Given the description of an element on the screen output the (x, y) to click on. 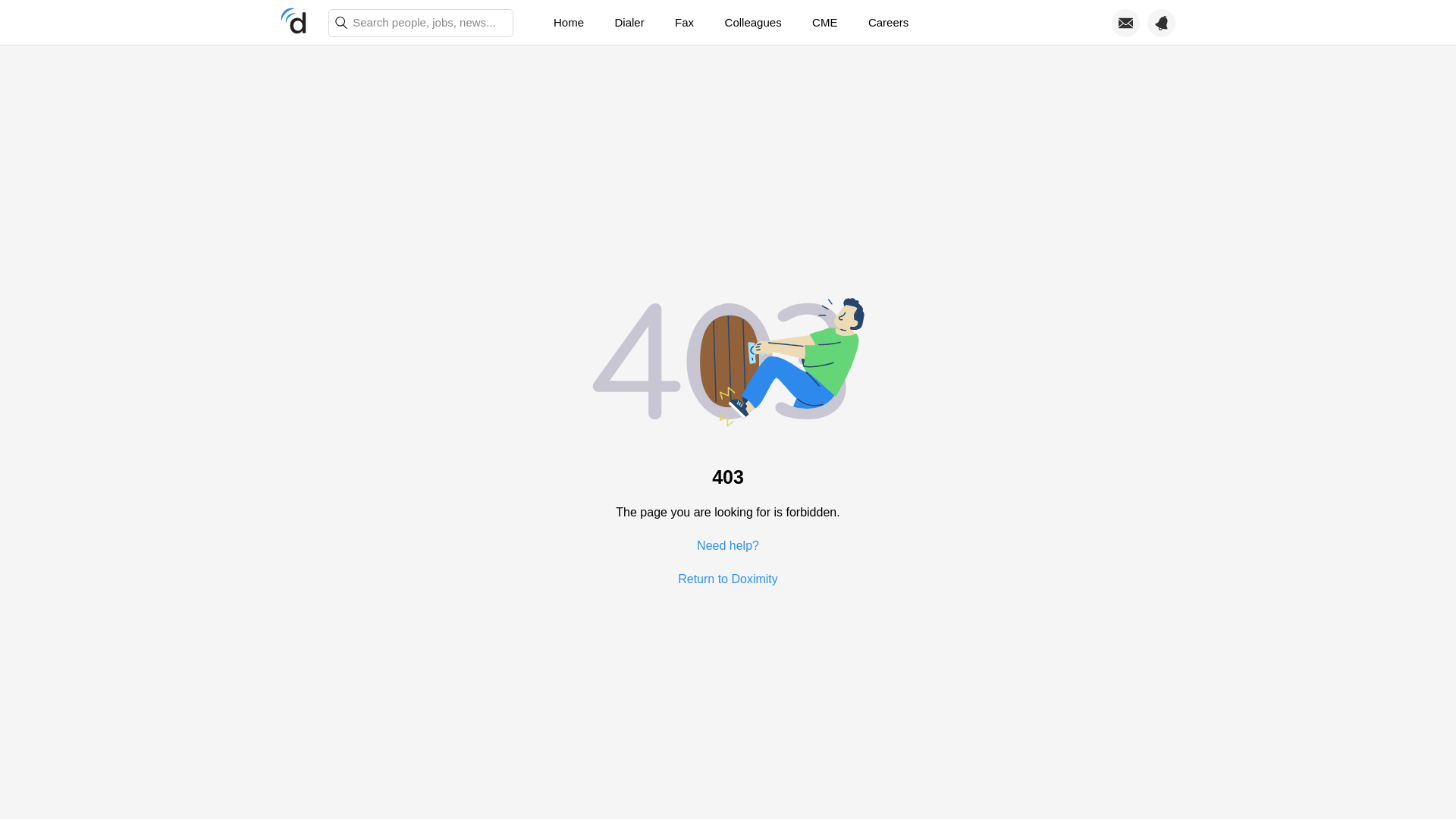
Search people, jobs, news... (421, 22)
Careers (887, 22)
Need help? (727, 544)
Fax (684, 22)
Colleagues (752, 22)
Home (568, 22)
Dialer (628, 22)
CME (823, 22)
Return to Doximity (727, 577)
